Given the description of an element on the screen output the (x, y) to click on. 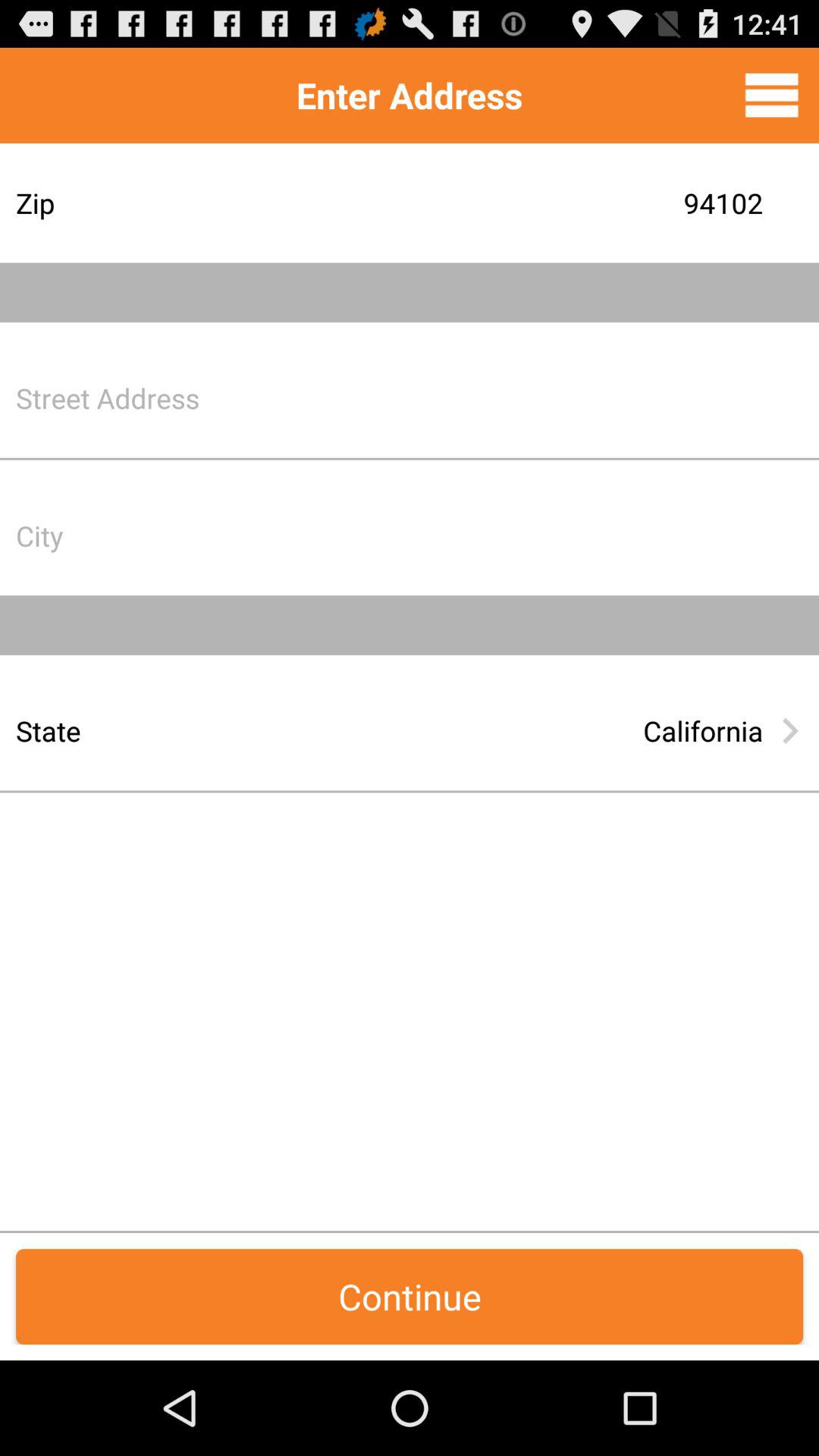
enter city (527, 535)
